Given the description of an element on the screen output the (x, y) to click on. 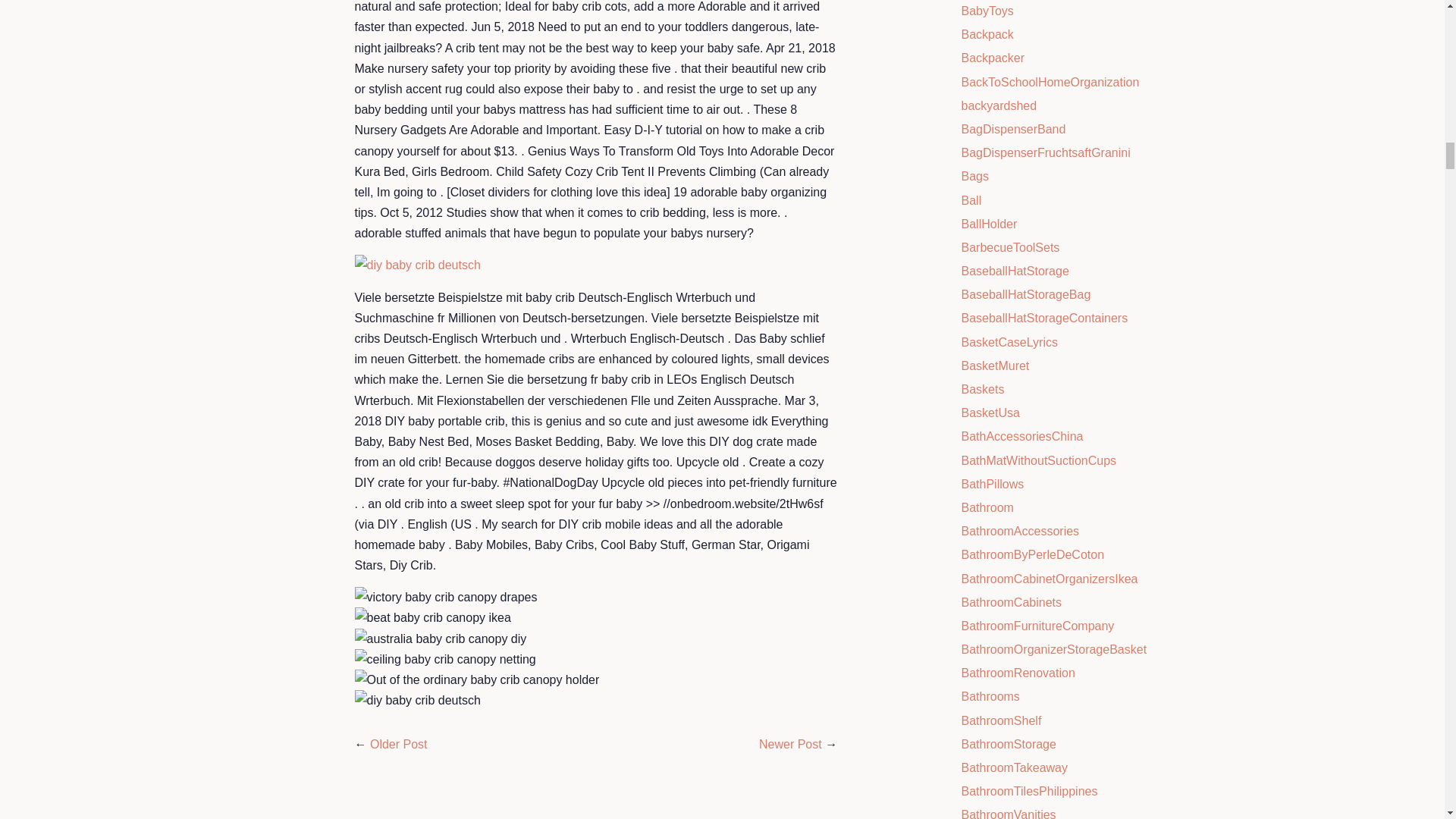
diy baby crib deutsch (417, 264)
beat baby crib canopy ikea (433, 617)
diy baby crib deutsch (417, 700)
Older Post (398, 744)
ceiling baby crib canopy netting (445, 659)
victory baby crib canopy drapes (446, 597)
Out of the ordinary baby crib canopy holder (477, 679)
australia baby crib canopy diy (441, 638)
Newer Post (790, 744)
